Given the description of an element on the screen output the (x, y) to click on. 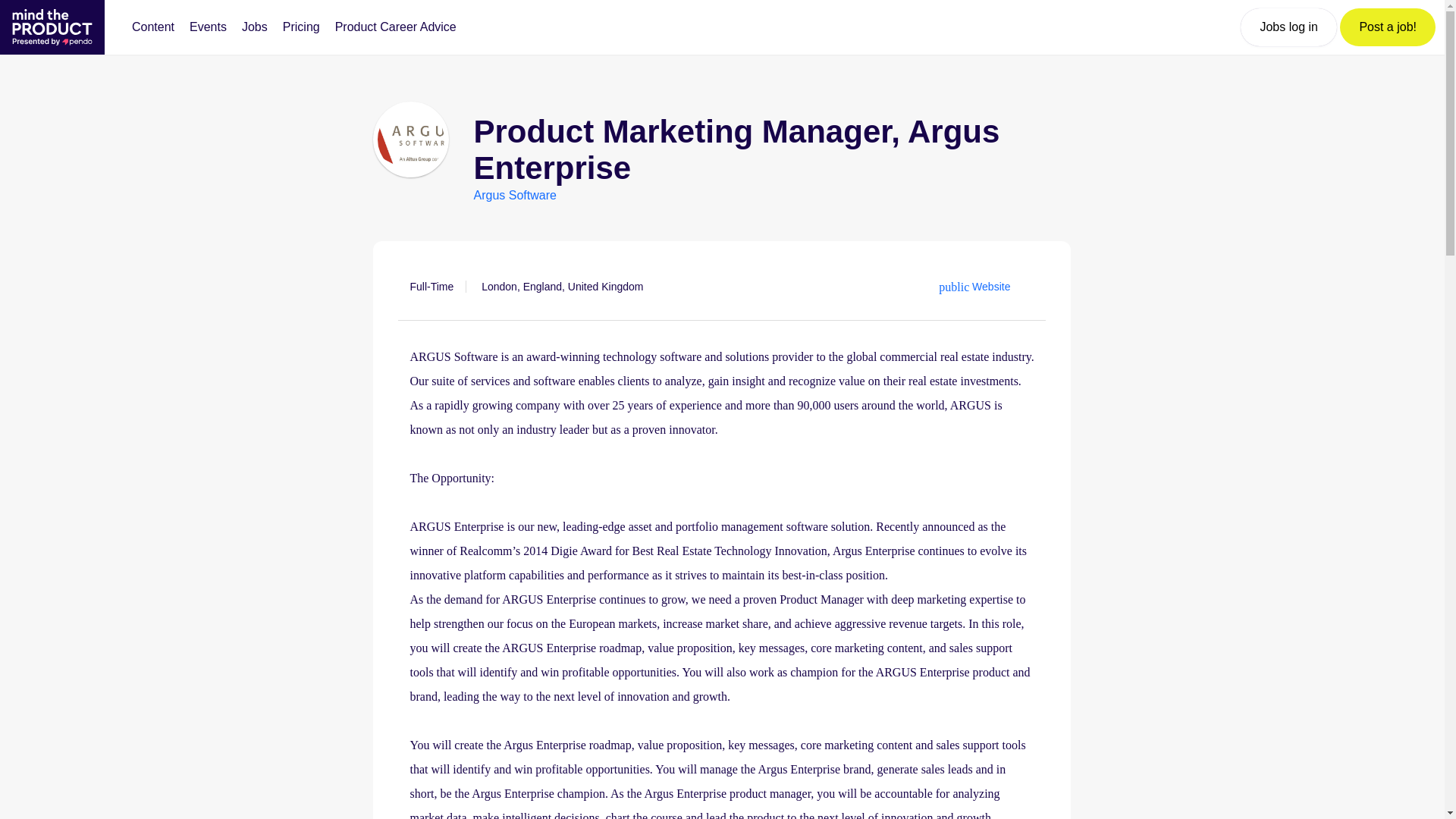
London, England, United Kingdom (562, 286)
Product Career Advice (395, 27)
Product Career Advice (395, 27)
Content (153, 27)
Jobs (254, 27)
public Website (974, 286)
Content (153, 27)
Pricing (301, 27)
Argus Software (514, 195)
Pricing (301, 27)
Jobs (254, 27)
Events (208, 27)
Post a job! (1387, 26)
Jobs log in (1288, 26)
Events (208, 27)
